Given the description of an element on the screen output the (x, y) to click on. 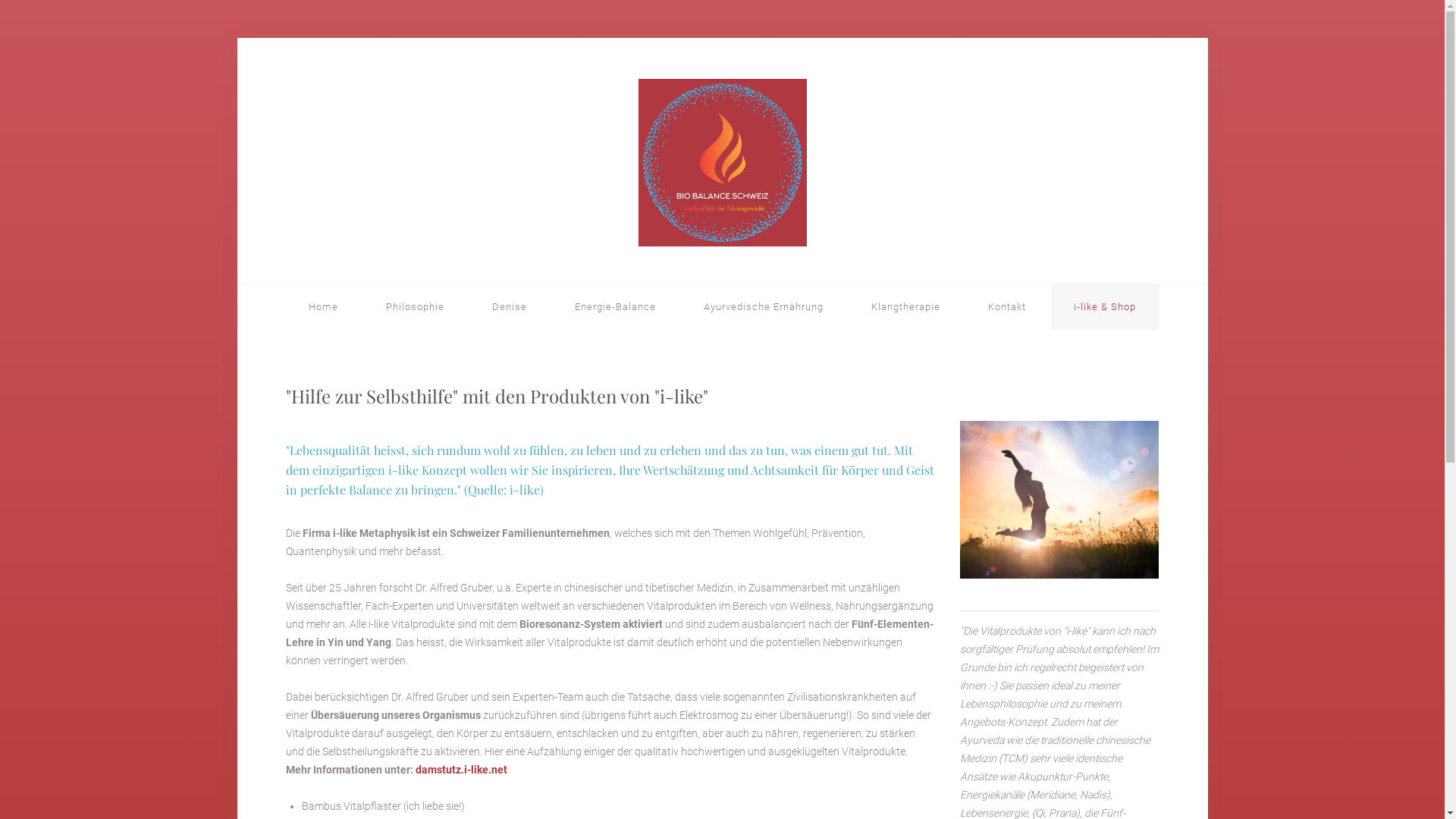
Energie-Balance Element type: text (615, 306)
Philosophie Element type: text (415, 306)
i-like & Shop Element type: text (1104, 306)
Klangtherapie Element type: text (905, 306)
Home Element type: text (322, 306)
damstutz.i-like.net Element type: text (461, 769)
Kontakt Element type: text (1006, 306)
Denise Element type: text (509, 306)
